Given the description of an element on the screen output the (x, y) to click on. 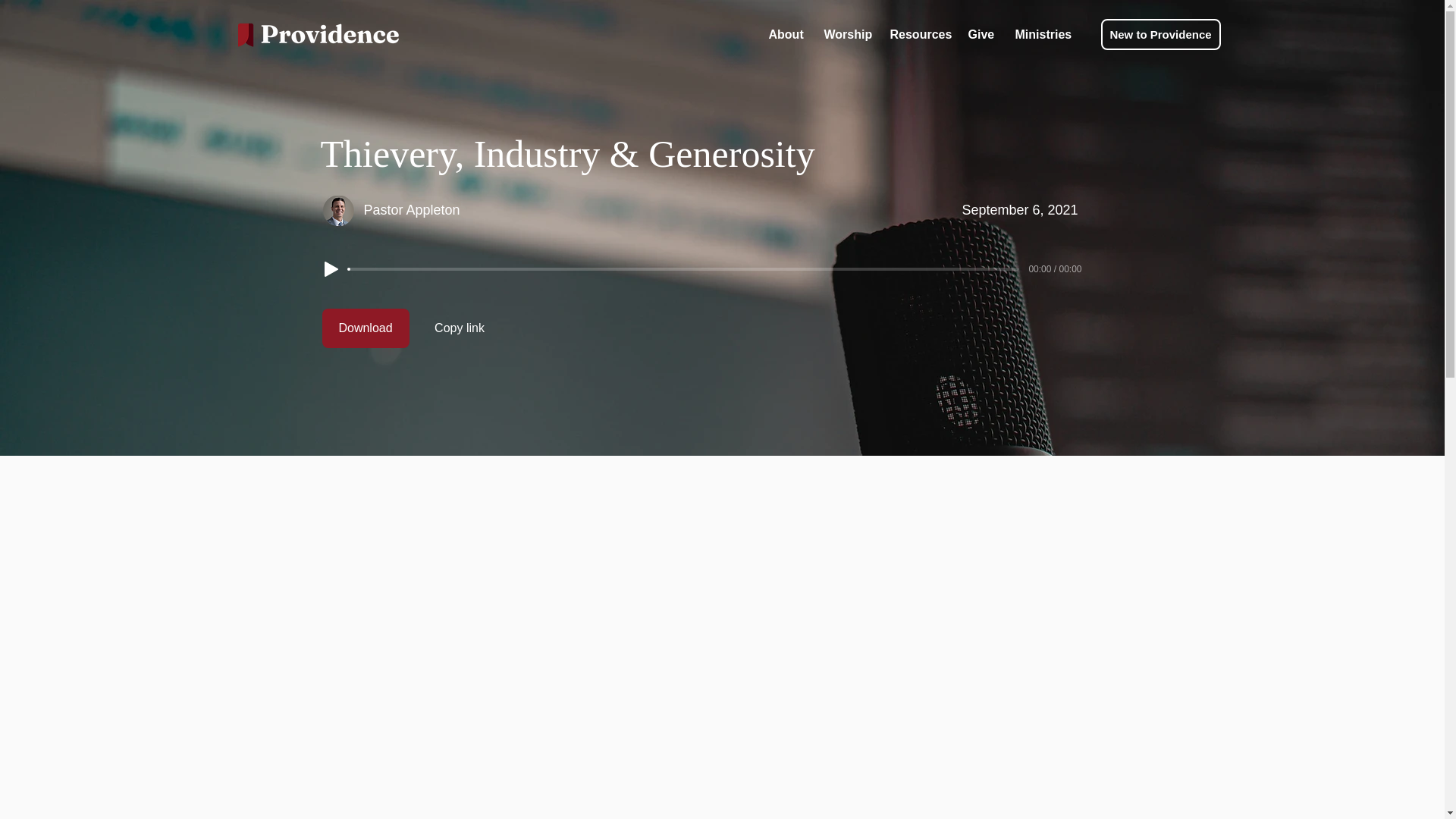
Give (980, 33)
Facebook Like (622, 771)
New to Providence (1160, 33)
Pastor Appleton.png (338, 210)
Download (365, 328)
0 (684, 268)
Copy link (459, 328)
